Given the description of an element on the screen output the (x, y) to click on. 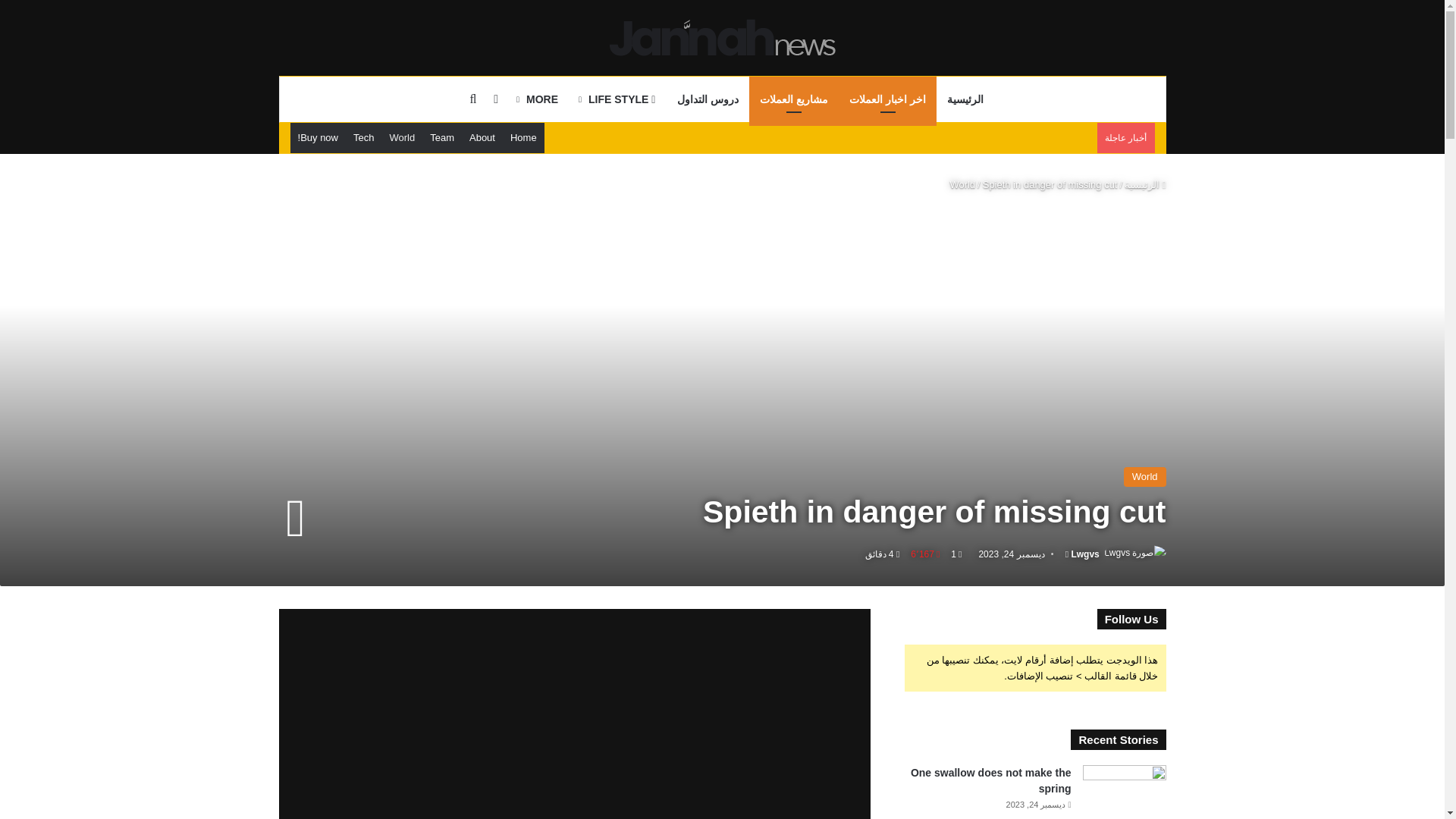
Buy now! (317, 137)
LIFE STYLE (617, 99)
MORE (537, 99)
MANOMAN (574, 714)
Lwgvs (1084, 553)
